Given the description of an element on the screen output the (x, y) to click on. 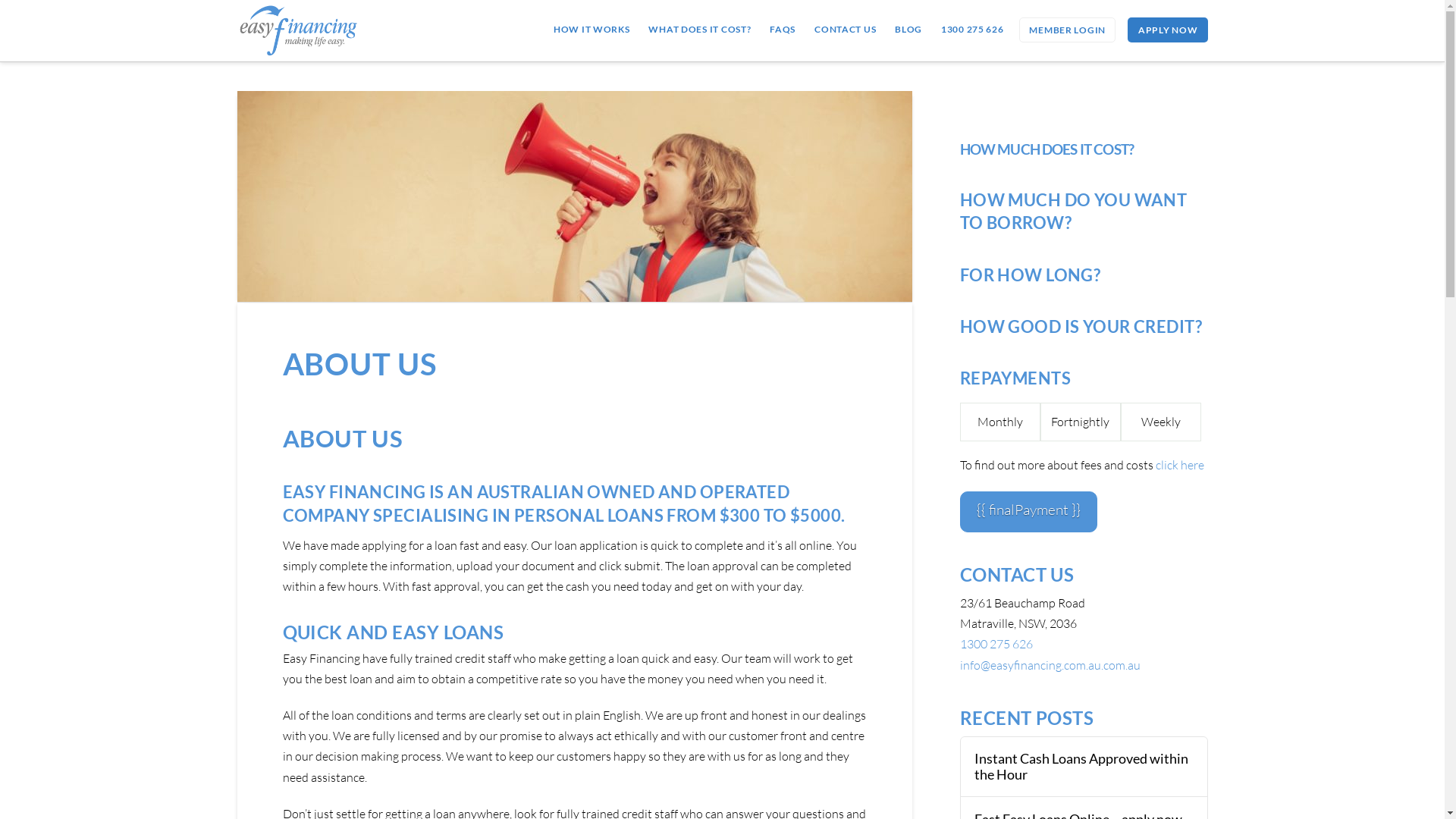
HOW IT WORKS Element type: text (591, 28)
Instant Cash Loans Approved within the Hour Element type: text (1083, 766)
MEMBER LOGIN Element type: text (1067, 29)
click here Element type: text (1178, 464)
BLOG Element type: text (907, 28)
info@easyfinancing.com.au.com.au Element type: text (1050, 664)
FAQS Element type: text (781, 28)
1300 275 626 Element type: text (972, 28)
CONTACT US Element type: text (844, 28)
APPLY NOW Element type: text (1167, 29)
WHAT DOES IT COST? Element type: text (699, 28)
1300 275 626 Element type: text (996, 643)
